Given the description of an element on the screen output the (x, y) to click on. 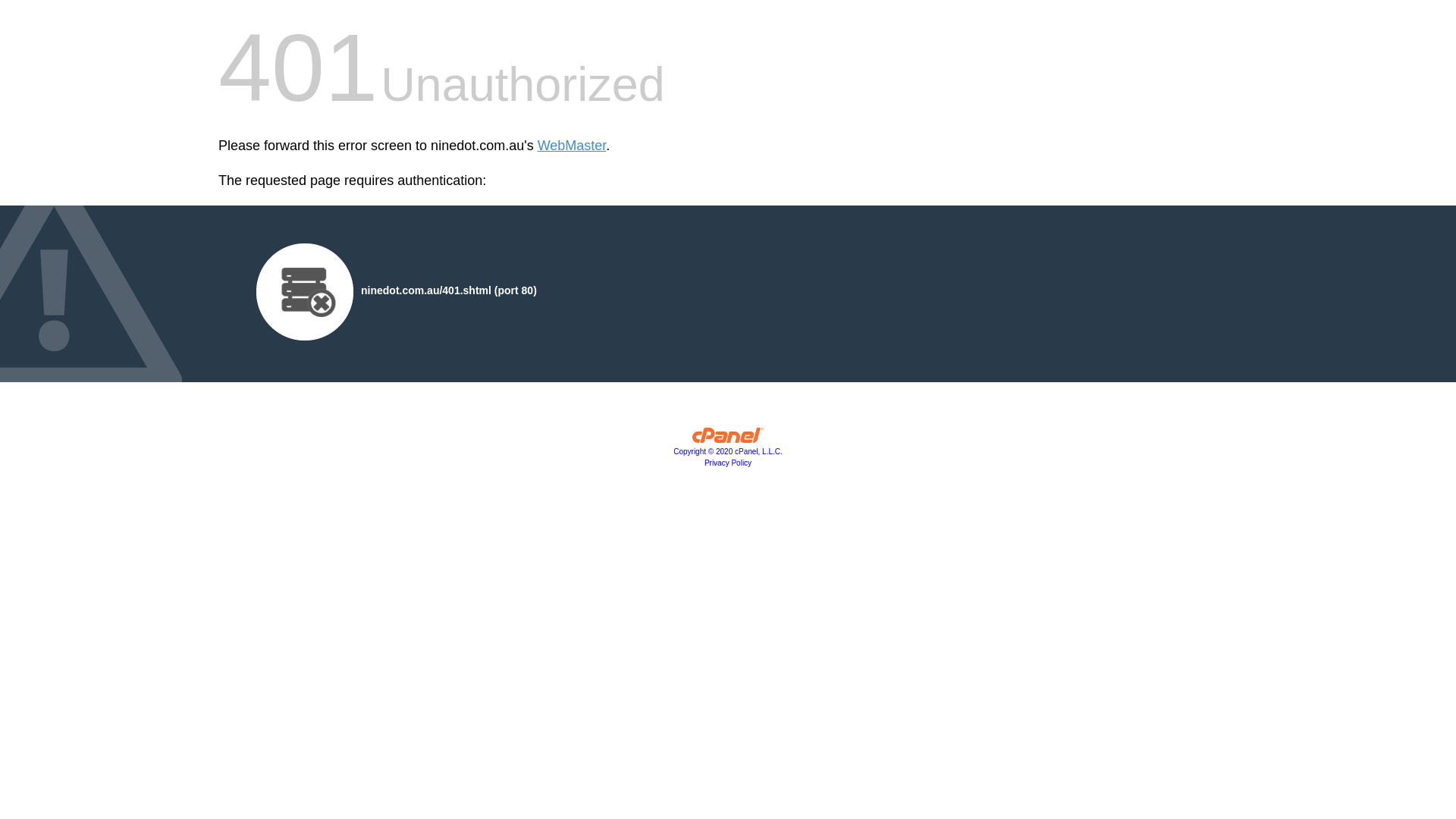
WebMaster Element type: text (571, 145)
Privacy Policy Element type: text (727, 462)
cPanel, Inc. Element type: hover (728, 439)
